Given the description of an element on the screen output the (x, y) to click on. 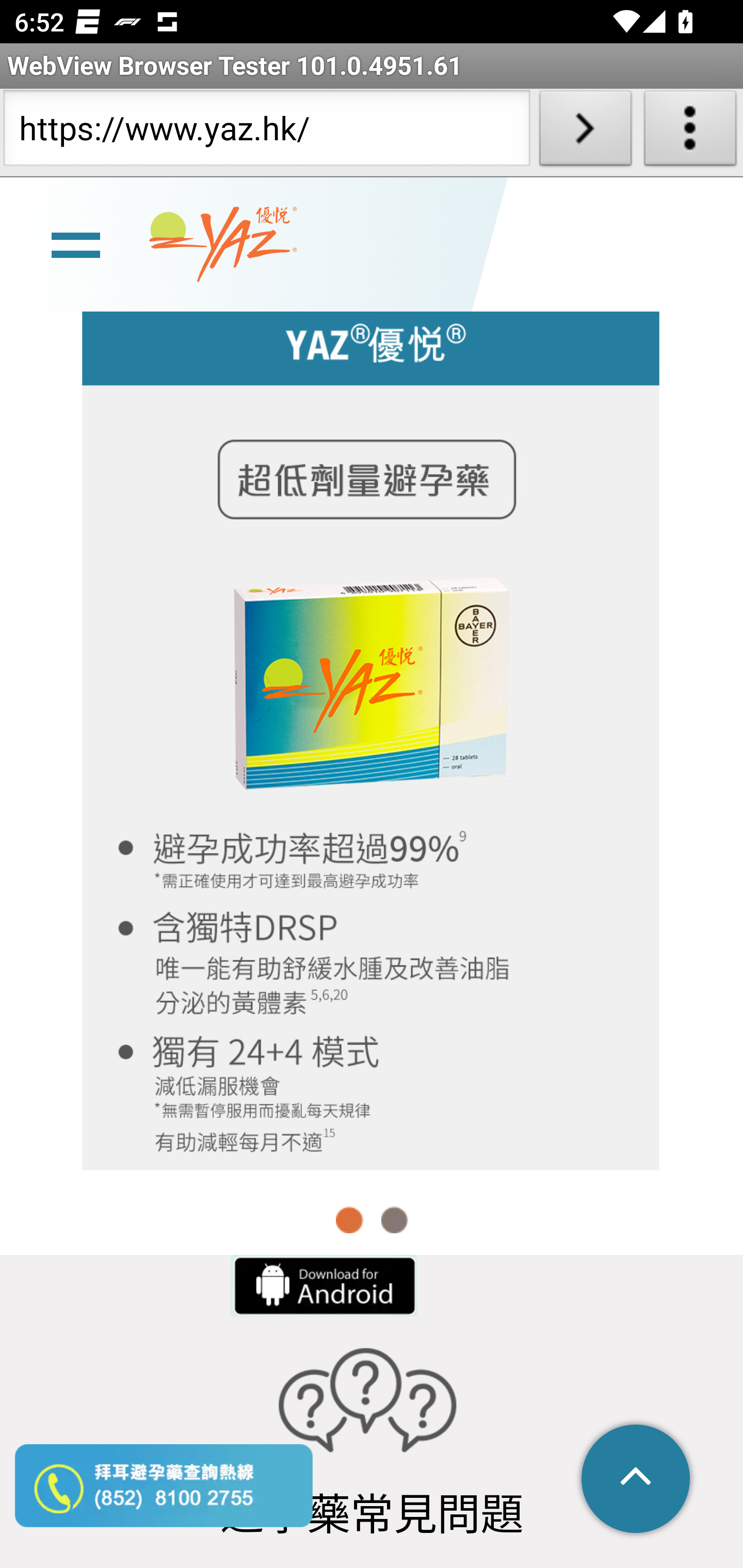
https://www.yaz.hk/ (266, 132)
Load URL (585, 132)
About WebView (690, 132)
www.yaz (222, 244)
line Toggle burger menu (75, 245)
slide 1 (371, 731)
1 of 2 (349, 1220)
2 of 2 (393, 1220)
details?id=com.bayer.ph (322, 1285)
 (636, 1480)
